Given the description of an element on the screen output the (x, y) to click on. 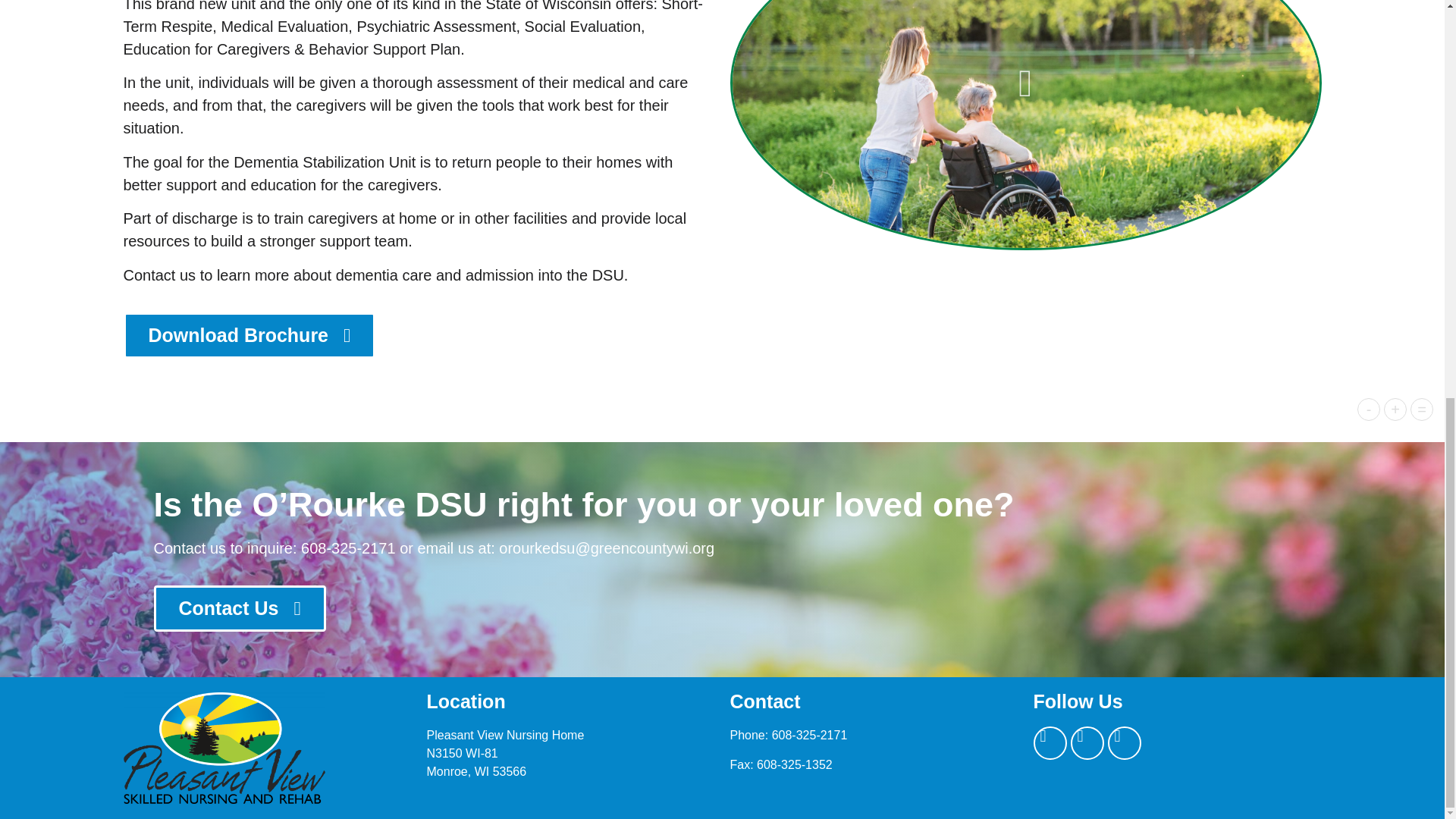
Contact Us (238, 608)
Download Brochure (248, 335)
